Given the description of an element on the screen output the (x, y) to click on. 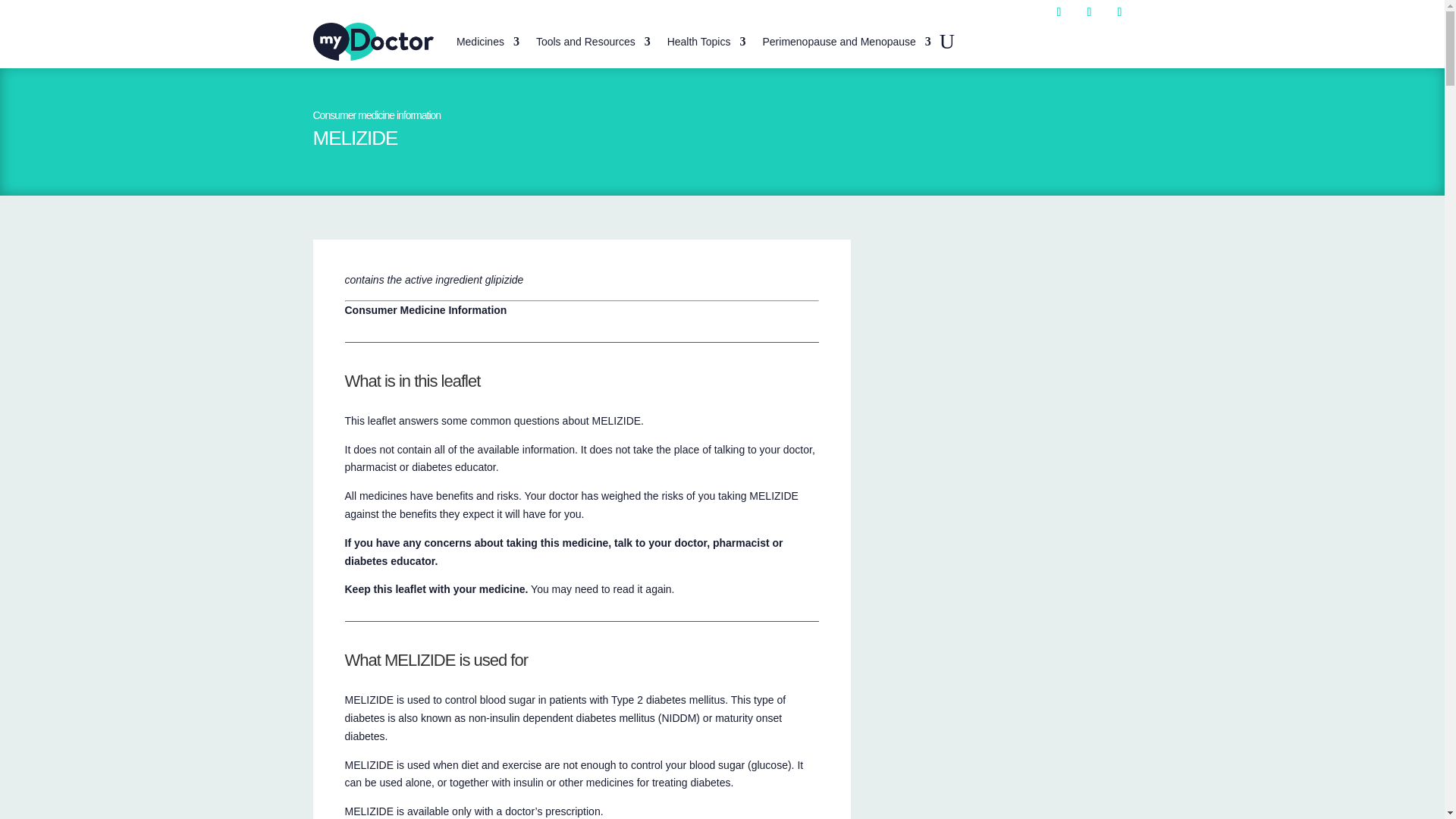
Health Topics (705, 41)
Follow on TikTok (1118, 12)
Follow on Facebook (1058, 12)
Medicines (488, 41)
Tools and Resources (592, 41)
Perimenopause and Menopause (845, 41)
Follow on Instagram (1088, 12)
